Given the description of an element on the screen output the (x, y) to click on. 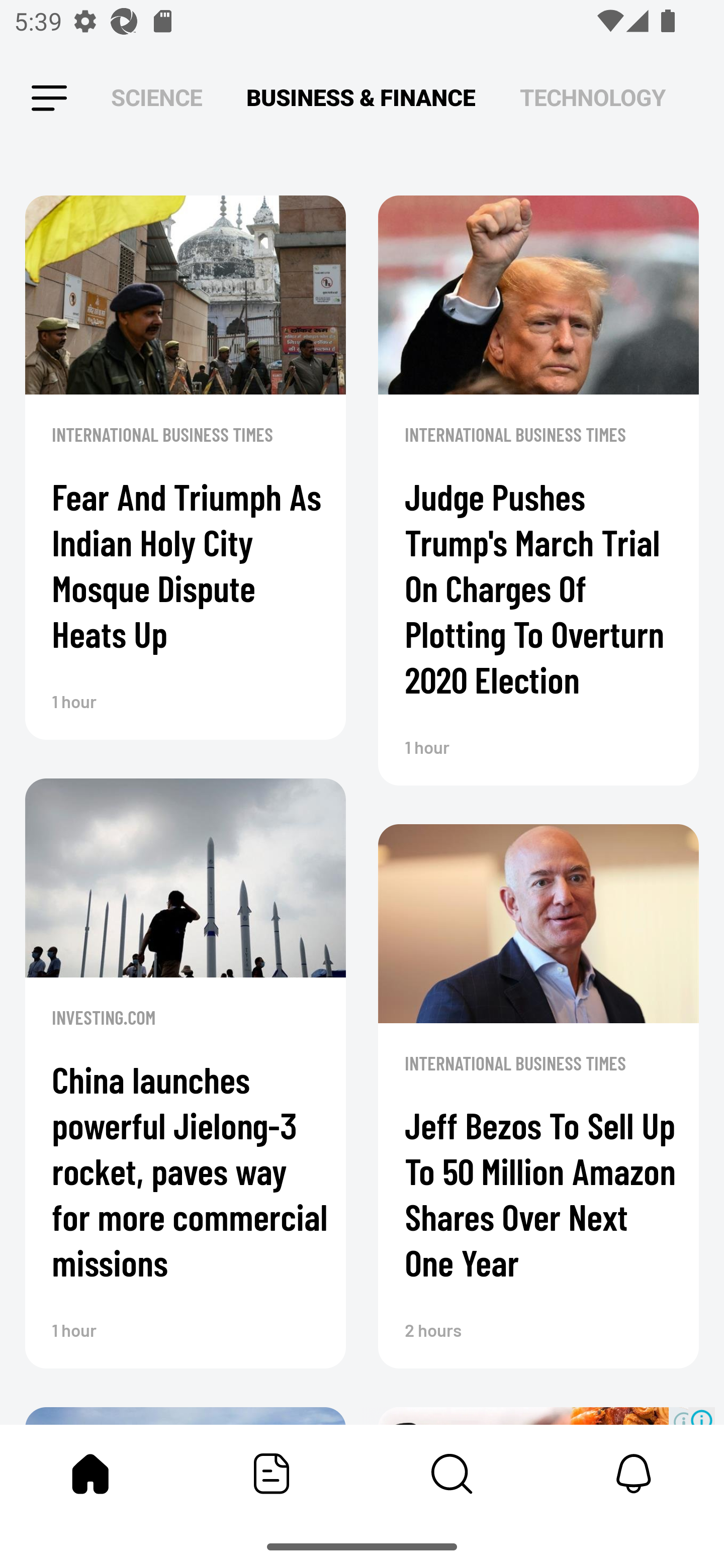
Leading Icon (49, 98)
SCIENCE (155, 97)
TECHNOLOGY (592, 97)
Featured (271, 1473)
Content Store (452, 1473)
Notifications (633, 1473)
